Given the description of an element on the screen output the (x, y) to click on. 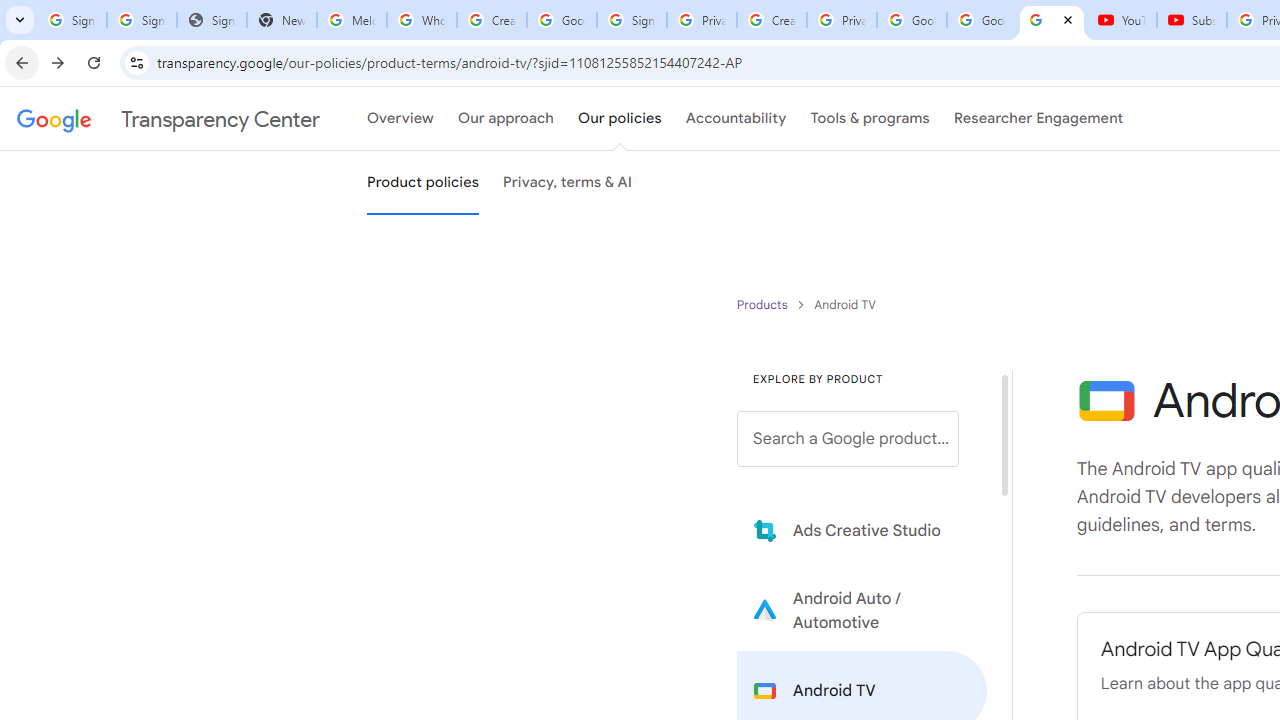
Subscriptions - YouTube (1192, 20)
YouTube (1121, 20)
Who is my administrator? - Google Account Help (421, 20)
Privacy, terms & AI (568, 183)
Sign in - Google Accounts (631, 20)
